Given the description of an element on the screen output the (x, y) to click on. 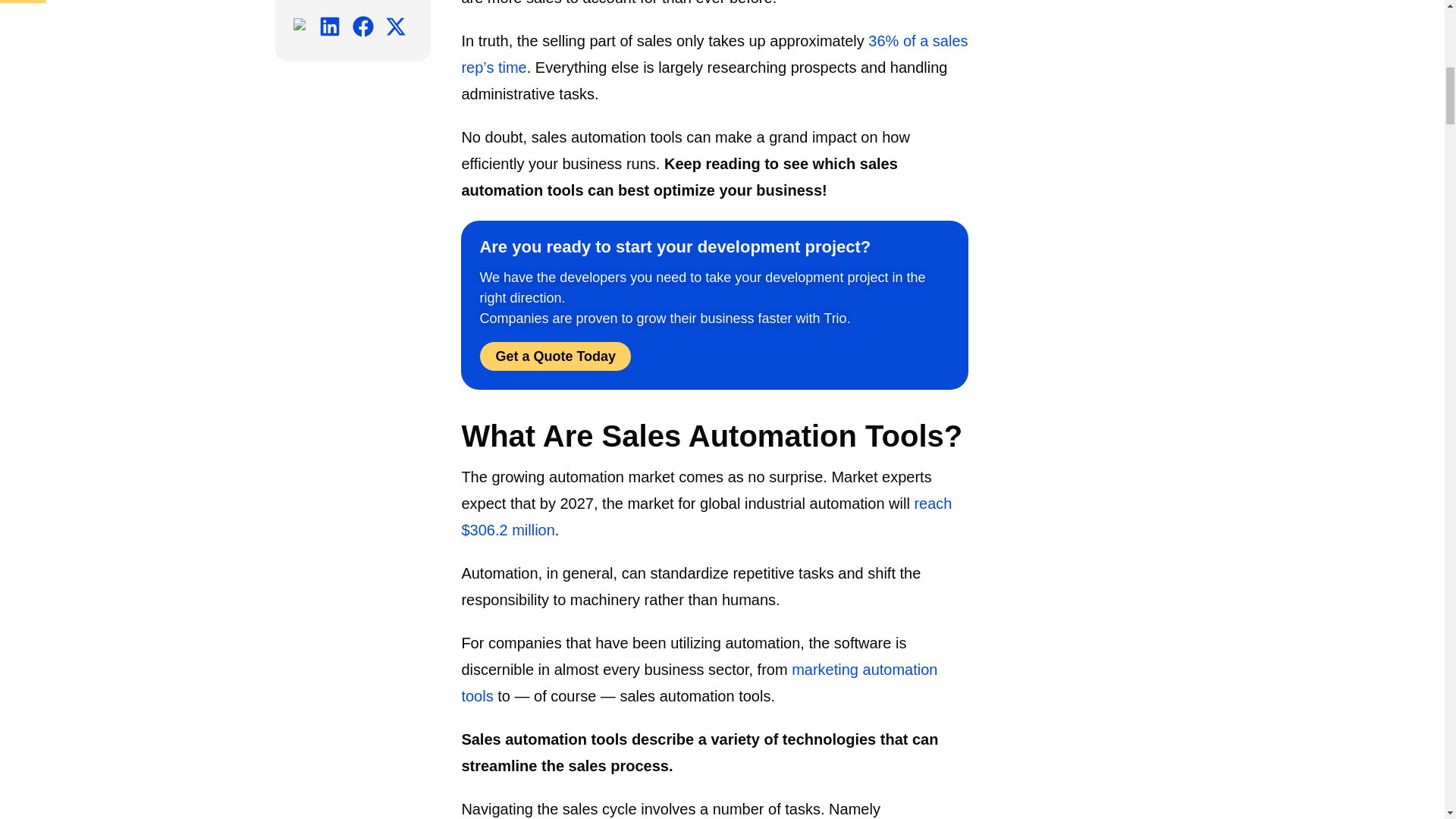
Get a Quote Today (555, 356)
marketing automation tools (699, 682)
